Given the description of an element on the screen output the (x, y) to click on. 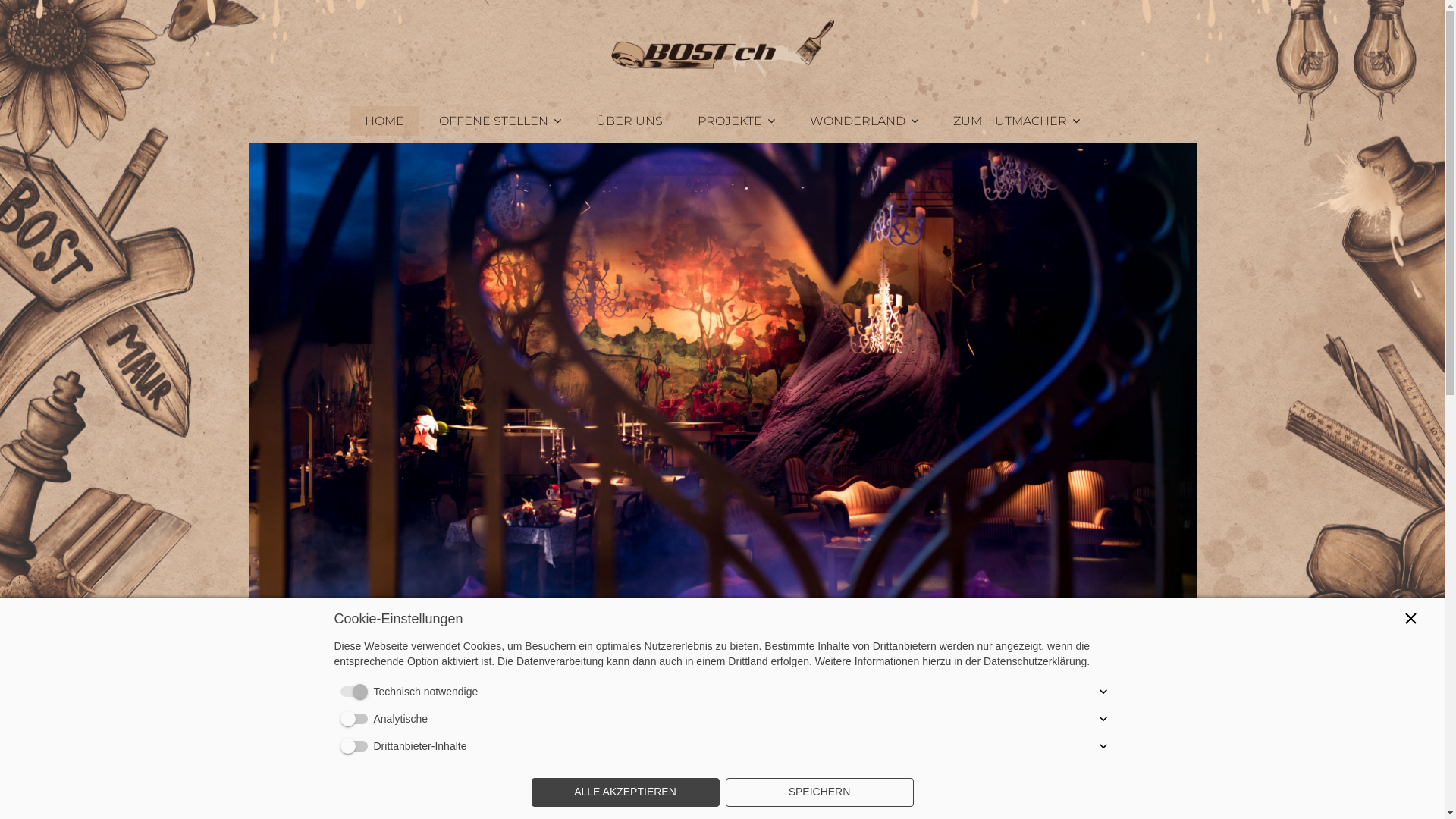
ZUM HUTMACHER Element type: text (1016, 120)
PROJEKTE Element type: text (736, 120)
OFFENE STELLEN Element type: text (499, 120)
SPEICHERN Element type: text (818, 792)
ALLE AKZEPTIEREN Element type: text (624, 792)
HOME Element type: text (384, 120)
WONDERLAND Element type: text (863, 120)
